Given the description of an element on the screen output the (x, y) to click on. 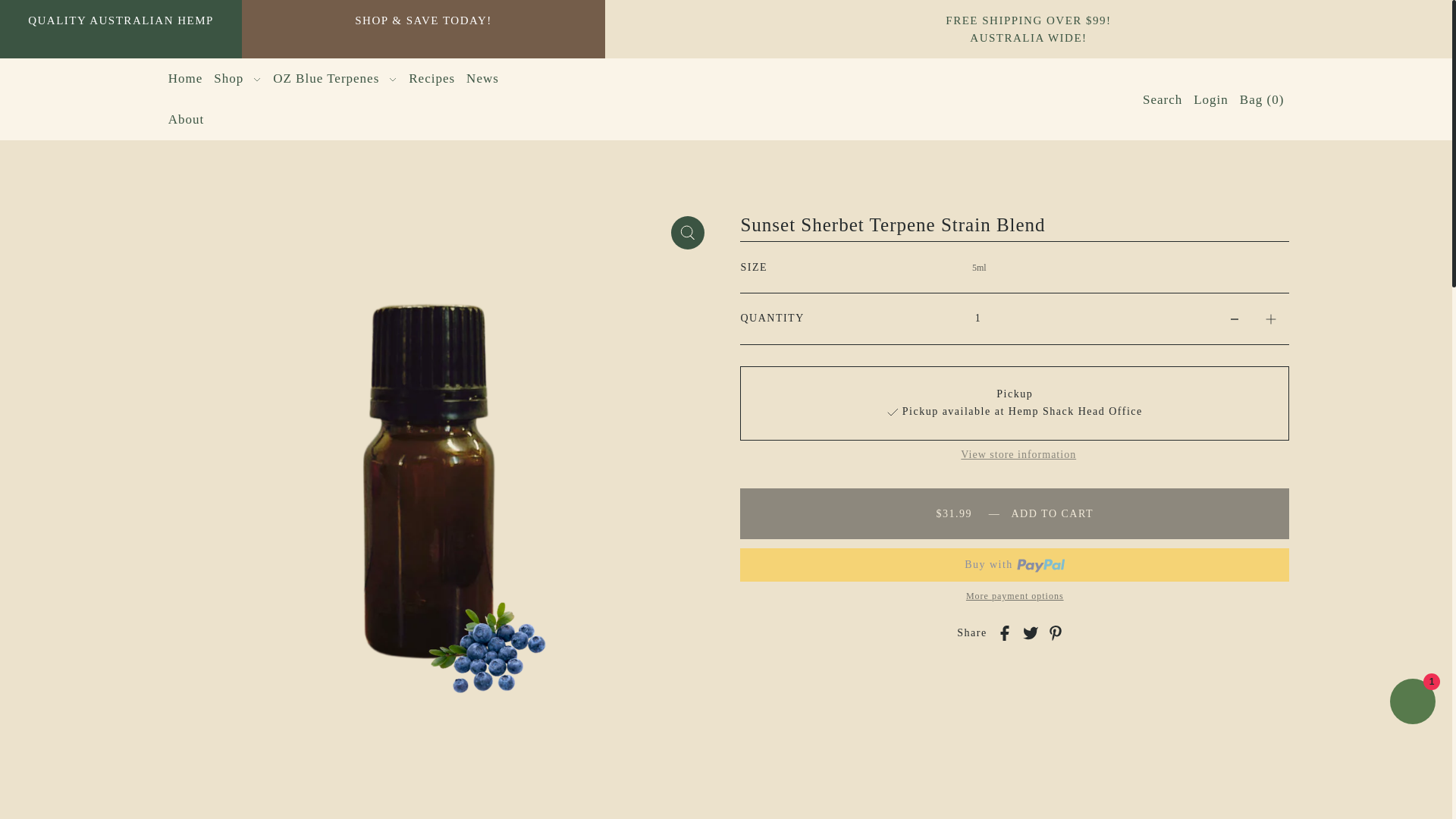
News (482, 78)
1 (977, 318)
Login (1210, 99)
Search (1162, 99)
click to zoom-in (687, 232)
About (186, 119)
Home (185, 78)
Shopify online store chat (1412, 703)
Recipes (432, 78)
OZ Blue Terpenes (335, 78)
Shop (237, 78)
